Given the description of an element on the screen output the (x, y) to click on. 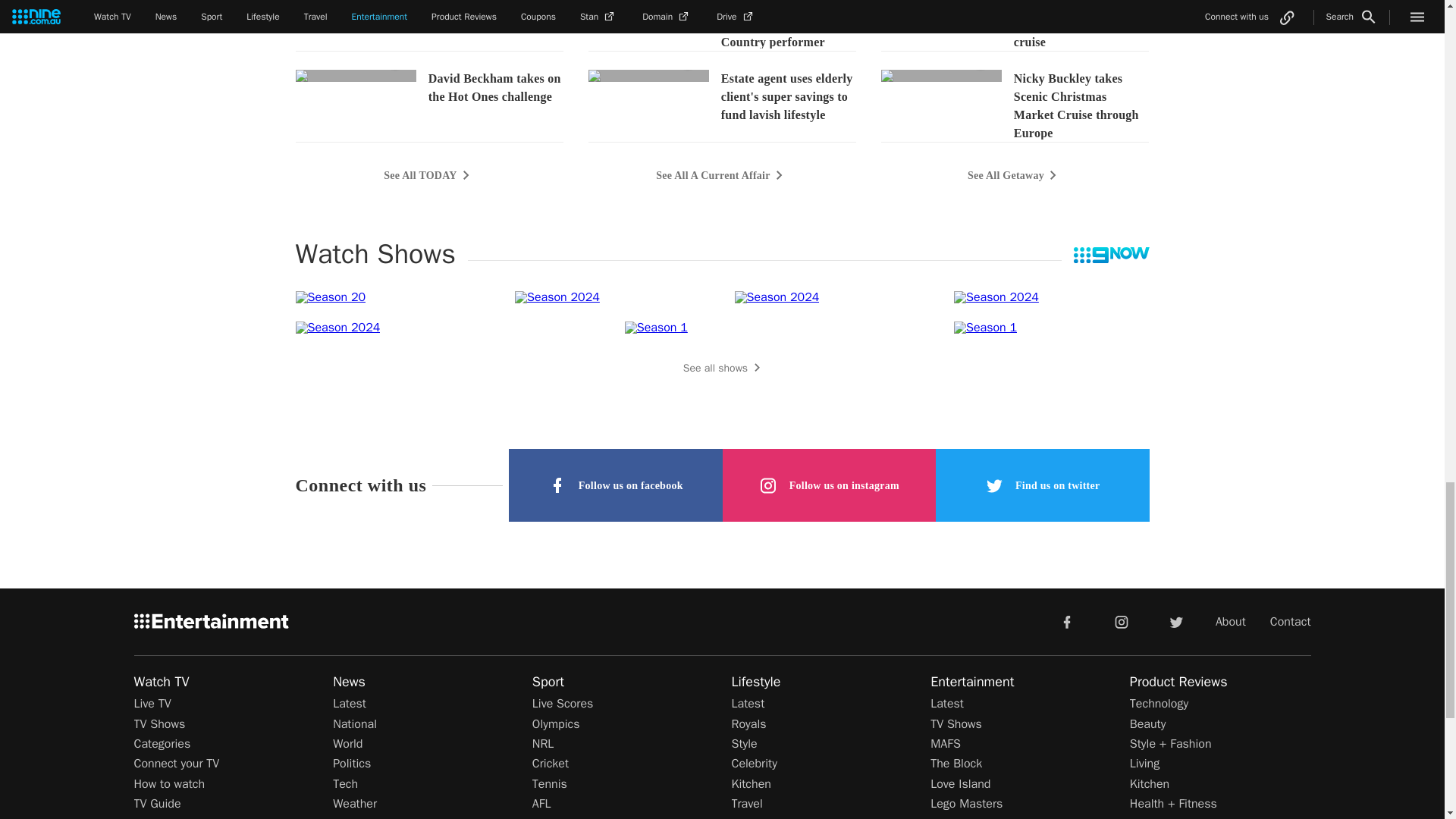
facebook (1066, 621)
twitter (1175, 621)
instagram (1121, 621)
